Given the description of an element on the screen output the (x, y) to click on. 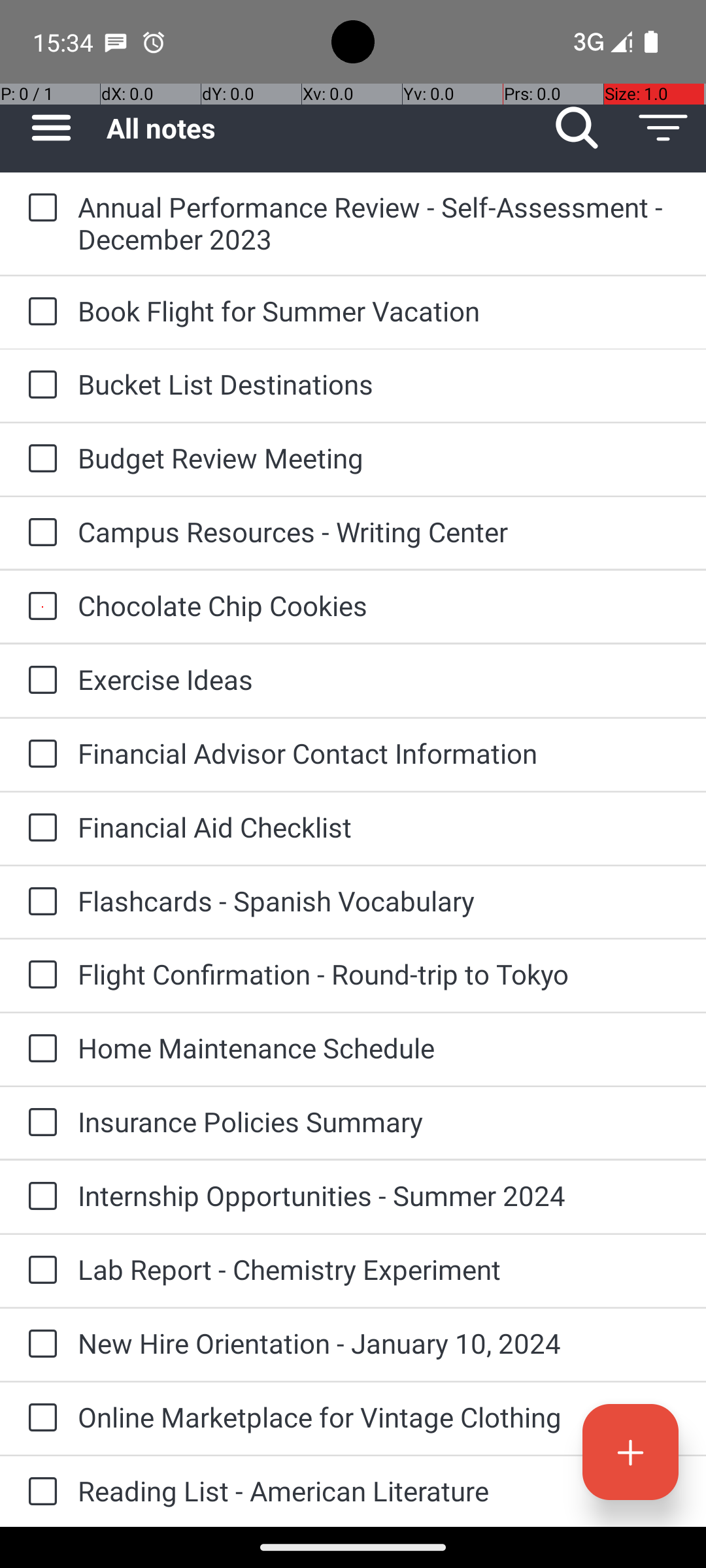
to-do: Book Flight for Summer Vacation Element type: android.widget.CheckBox (38, 312)
Book Flight for Summer Vacation Element type: android.widget.TextView (378, 310)
to-do: Bucket List Destinations Element type: android.widget.CheckBox (38, 385)
Bucket List Destinations Element type: android.widget.TextView (378, 383)
to-do: Budget Review Meeting Element type: android.widget.CheckBox (38, 459)
Budget Review Meeting Element type: android.widget.TextView (378, 457)
to-do: Campus Resources - Writing Center Element type: android.widget.CheckBox (38, 533)
Campus Resources - Writing Center Element type: android.widget.TextView (378, 531)
to-do: Chocolate Chip Cookies Element type: android.widget.CheckBox (38, 606)
Chocolate Chip Cookies Element type: android.widget.TextView (378, 604)
to-do: Exercise Ideas Element type: android.widget.CheckBox (38, 680)
Exercise Ideas Element type: android.widget.TextView (378, 678)
to-do: Financial Aid Checklist Element type: android.widget.CheckBox (38, 828)
Financial Aid Checklist Element type: android.widget.TextView (378, 826)
to-do: Flashcards - Spanish Vocabulary Element type: android.widget.CheckBox (38, 902)
Flashcards - Spanish Vocabulary Element type: android.widget.TextView (378, 900)
to-do: Flight Confirmation - Round-trip to Tokyo Element type: android.widget.CheckBox (38, 975)
Flight Confirmation - Round-trip to Tokyo Element type: android.widget.TextView (378, 973)
to-do: Home Maintenance Schedule Element type: android.widget.CheckBox (38, 1049)
Home Maintenance Schedule Element type: android.widget.TextView (378, 1047)
to-do: Insurance Policies Summary Element type: android.widget.CheckBox (38, 1123)
Insurance Policies Summary Element type: android.widget.TextView (378, 1121)
to-do: Internship Opportunities - Summer 2024 Element type: android.widget.CheckBox (38, 1196)
Internship Opportunities - Summer 2024 Element type: android.widget.TextView (378, 1194)
to-do: Lab Report - Chemistry Experiment Element type: android.widget.CheckBox (38, 1270)
Lab Report - Chemistry Experiment Element type: android.widget.TextView (378, 1268)
to-do: New Hire Orientation - January 10, 2024 Element type: android.widget.CheckBox (38, 1344)
New Hire Orientation - January 10, 2024 Element type: android.widget.TextView (378, 1342)
to-do: Reading List - American Literature Element type: android.widget.CheckBox (38, 1491)
Reading List - American Literature Element type: android.widget.TextView (378, 1490)
